Given the description of an element on the screen output the (x, y) to click on. 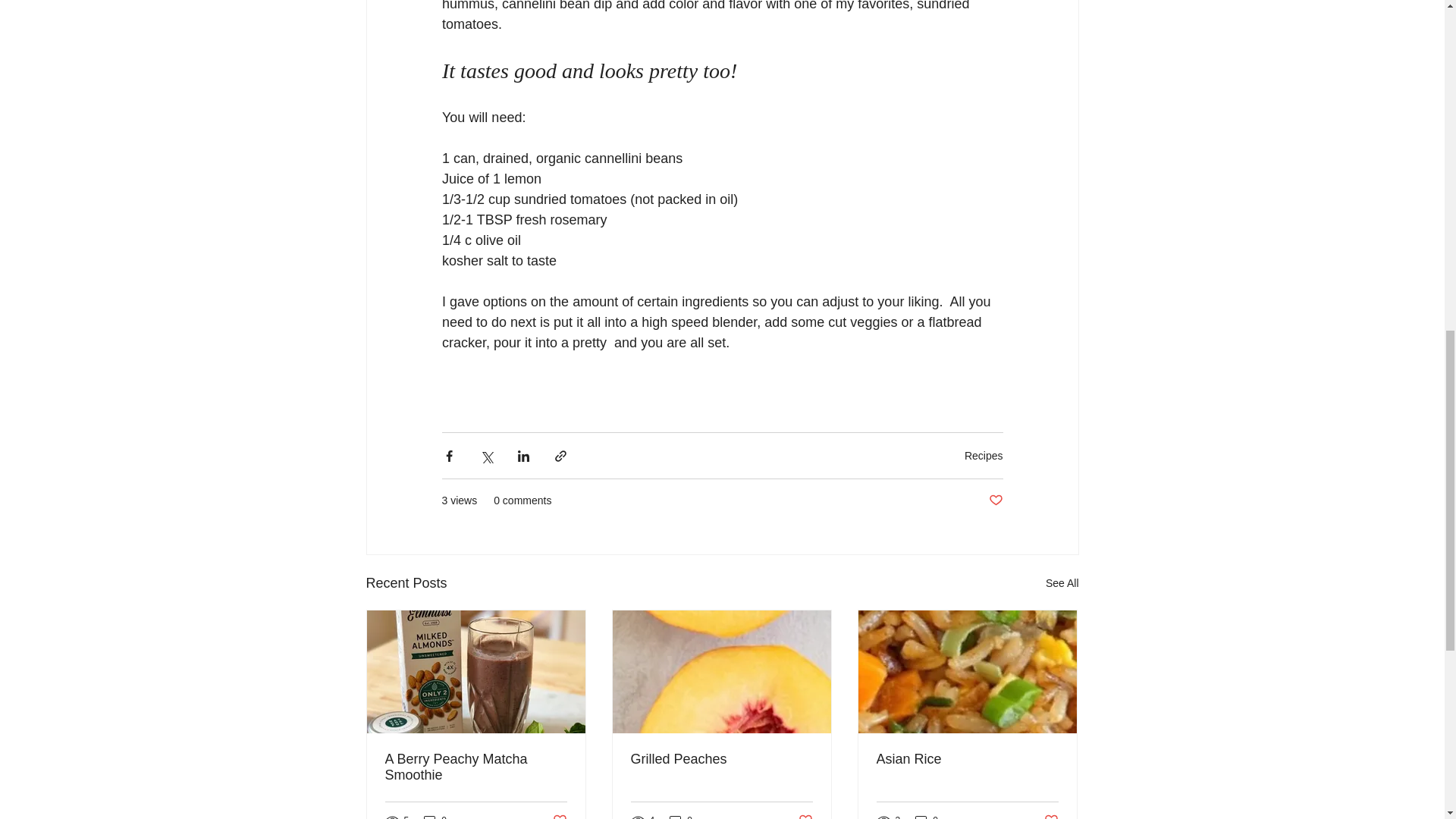
Post not marked as liked (558, 816)
0 (435, 816)
0 (681, 816)
Post not marked as liked (995, 500)
Recipes (983, 455)
Post not marked as liked (1050, 816)
A Berry Peachy Matcha Smoothie (476, 766)
See All (1061, 583)
0 (926, 816)
Post not marked as liked (804, 816)
Asian Rice (967, 759)
Grilled Peaches (721, 759)
